Given the description of an element on the screen output the (x, y) to click on. 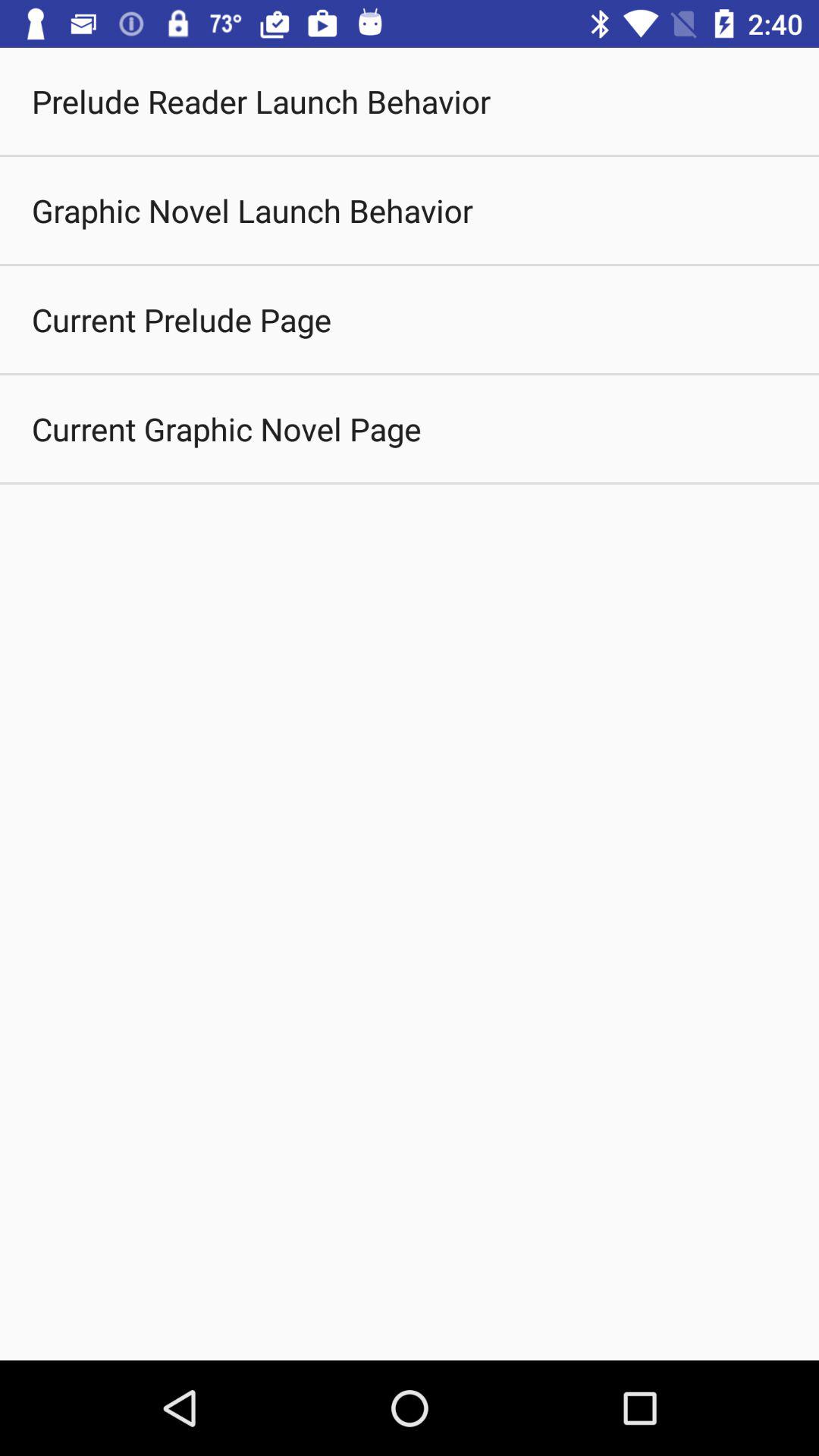
choose prelude reader launch icon (260, 100)
